Given the description of an element on the screen output the (x, y) to click on. 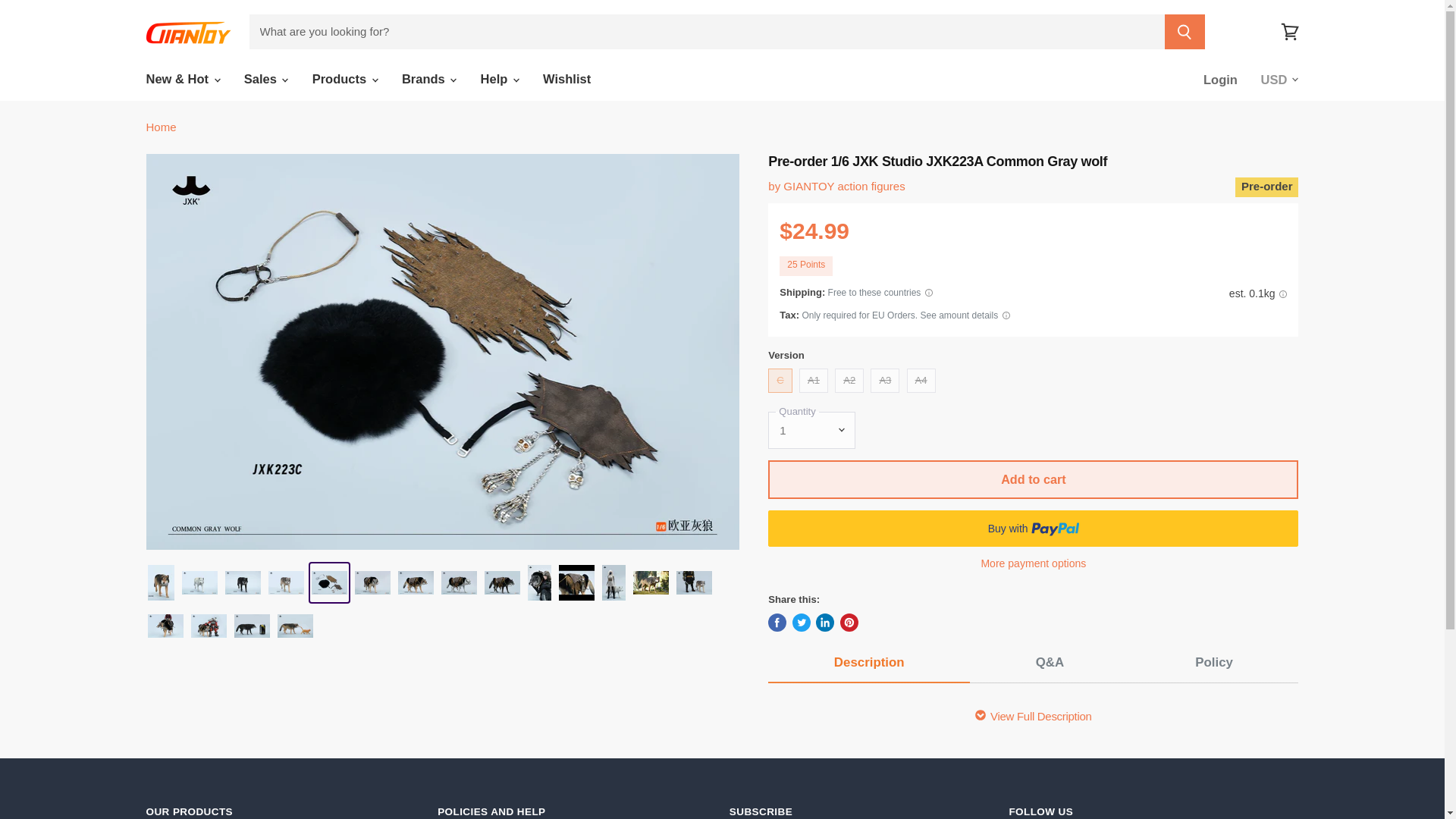
GIANTOY action figures (843, 185)
View cart (1289, 32)
Products (344, 79)
Sales (265, 79)
